Given the description of an element on the screen output the (x, y) to click on. 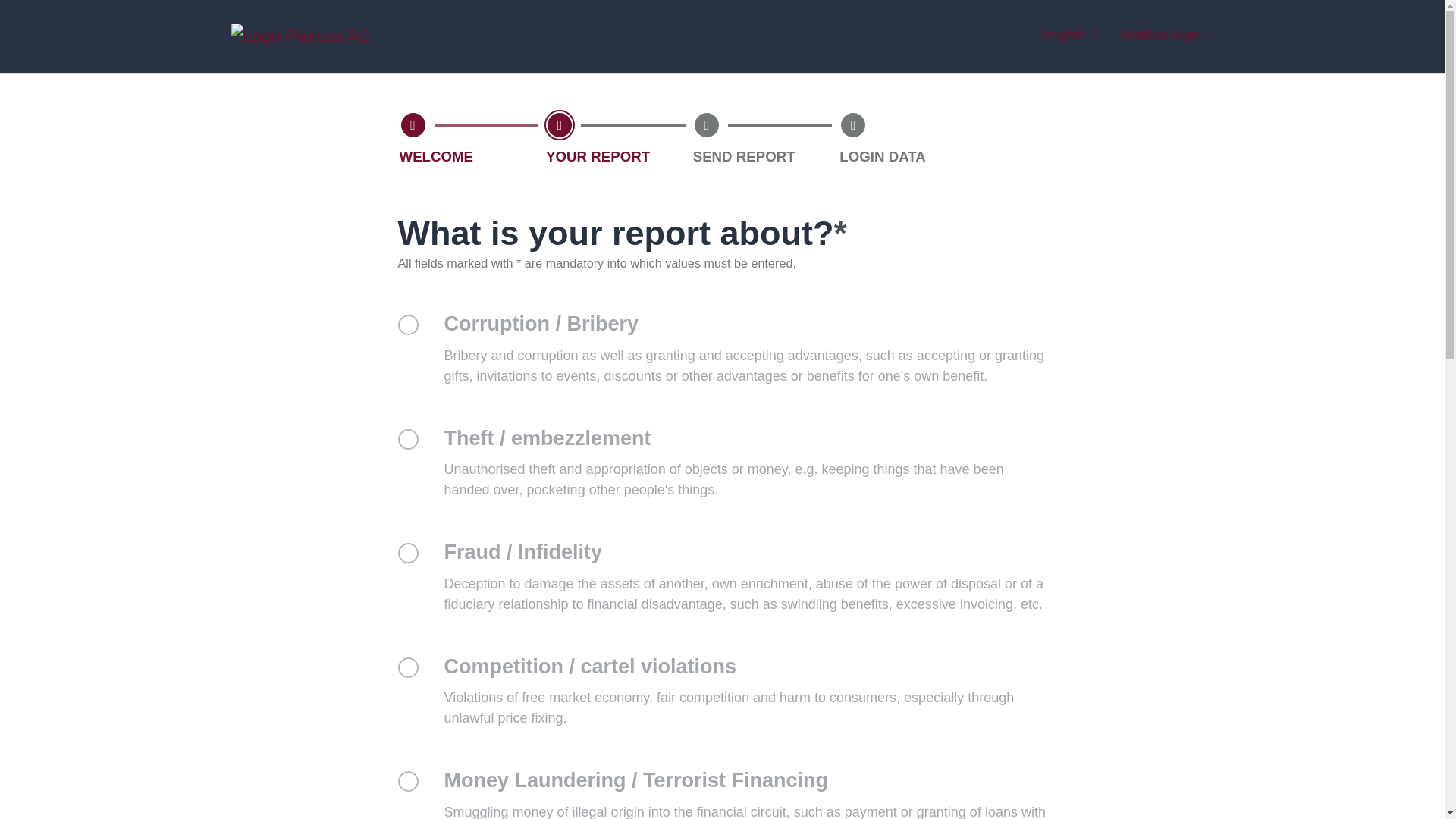
155e967c-c864-41fd-8ea1-3cb203c1521e (407, 781)
a9d2945a-449a-4efc-8815-d53f8a87c3fa (407, 667)
Mailbox login (1161, 36)
58386d82-cd75-4e76-b55f-40601901b1c9 (407, 552)
English (1069, 36)
WELCOME (412, 124)
327df0ef-61e6-4ea9-adb9-80800111df0e (407, 439)
44212a9a-e040-4884-9fad-64dfd4fa5454 (407, 324)
